Given the description of an element on the screen output the (x, y) to click on. 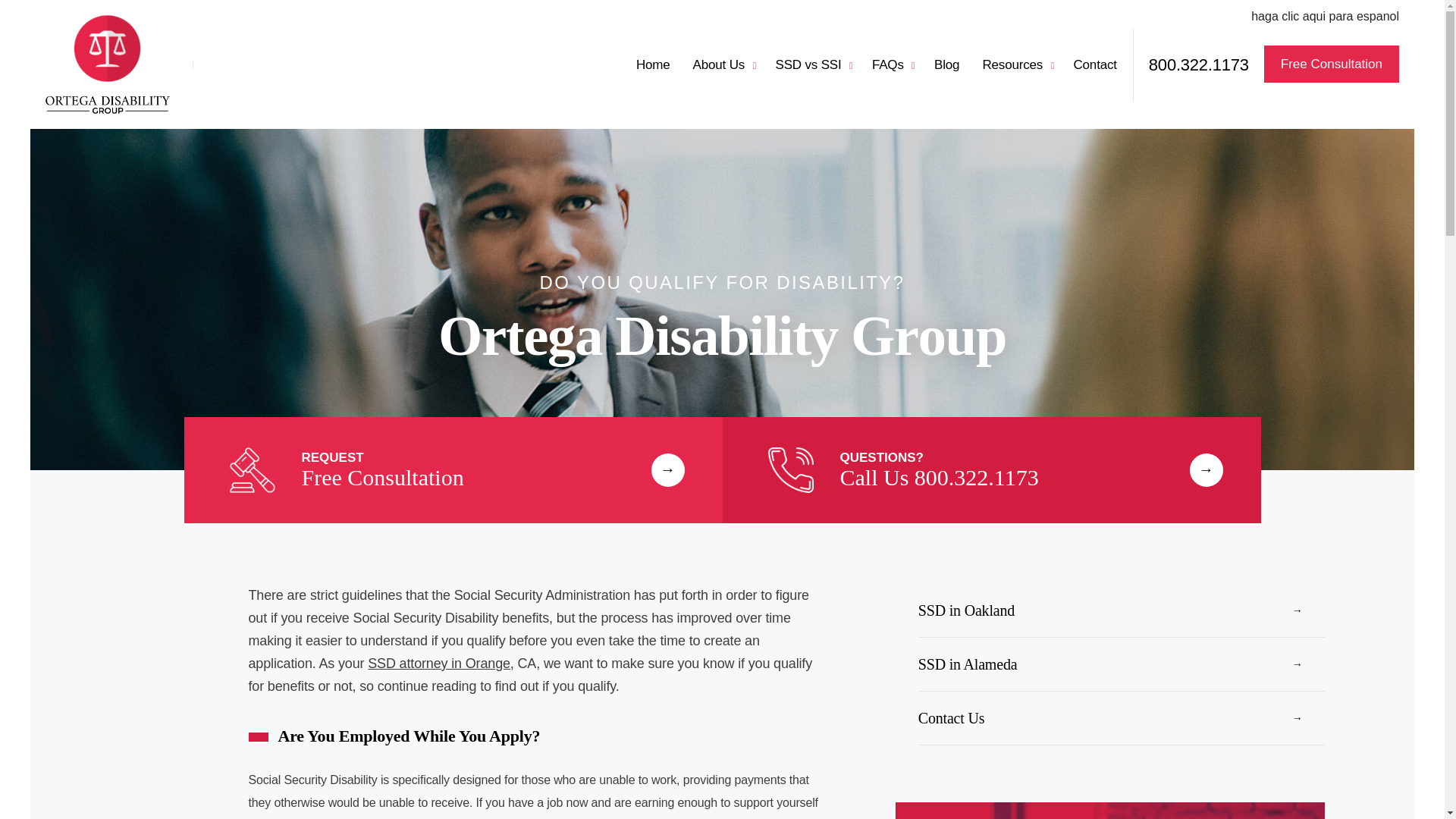
SSD vs SSI (991, 469)
FAQs (811, 65)
Skip to content (891, 65)
800.322.1173 (891, 65)
SSD in Oakland (1198, 65)
Ortega Disability Group (1121, 610)
haga clic aqui para espanol (107, 64)
Blog (1324, 15)
About Ortega Disability Group (946, 65)
SSD attorney in Orange (722, 65)
SSD in Alameda (439, 663)
